Given the description of an element on the screen output the (x, y) to click on. 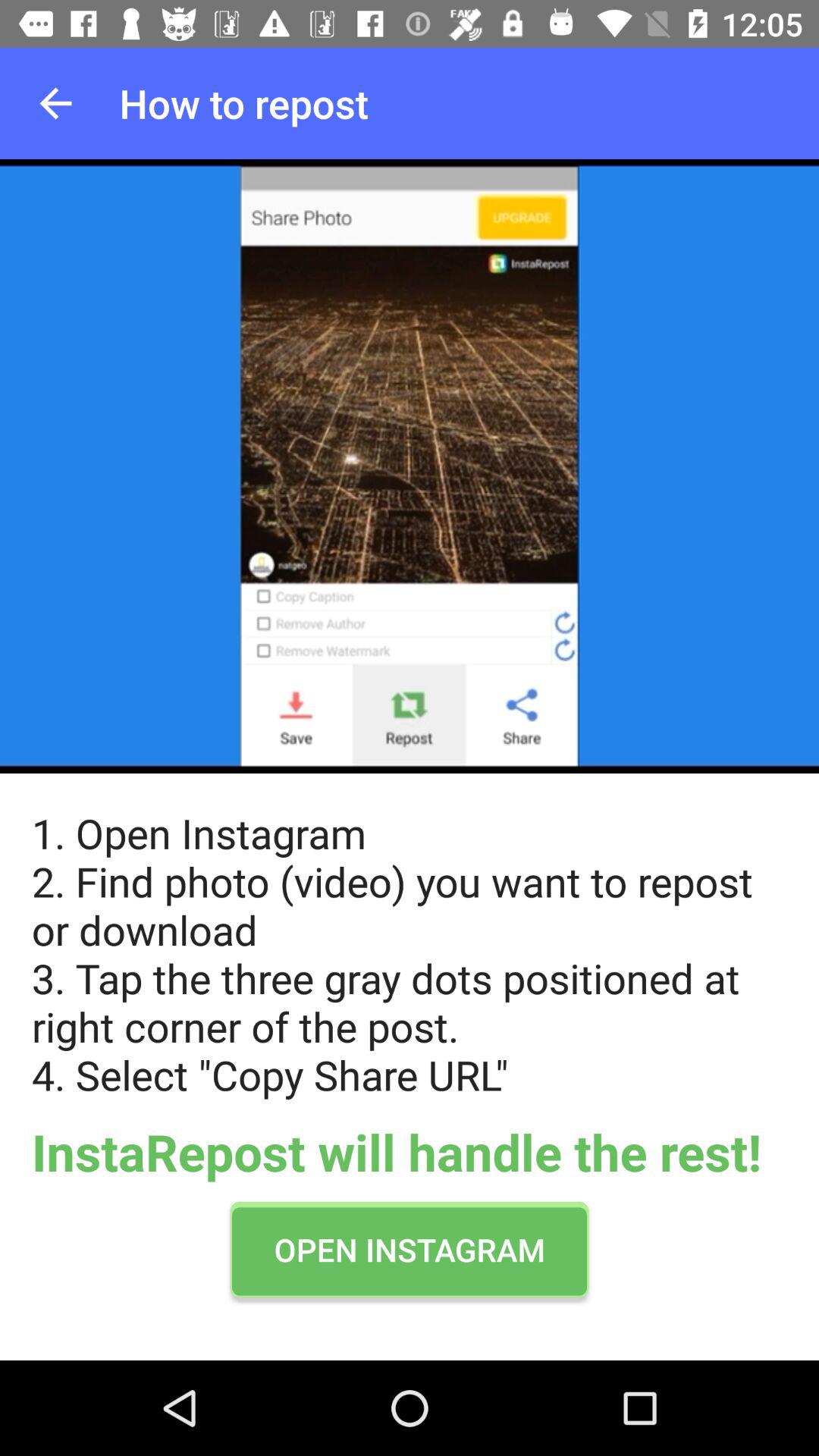
go back option (55, 103)
